Given the description of an element on the screen output the (x, y) to click on. 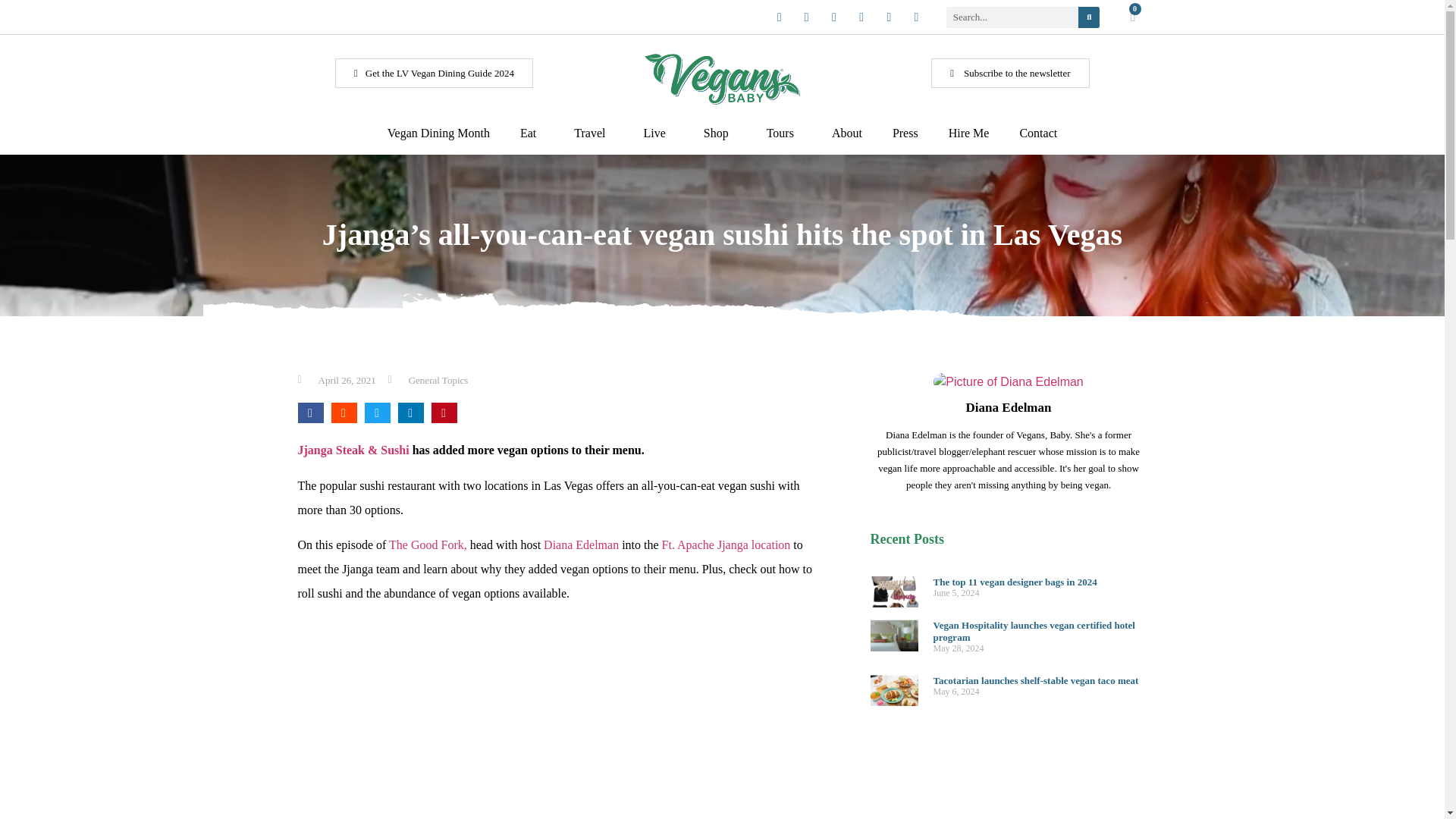
Get the LV Vegan Dining Guide 2024 (433, 72)
YouTube video player (560, 718)
